Given the description of an element on the screen output the (x, y) to click on. 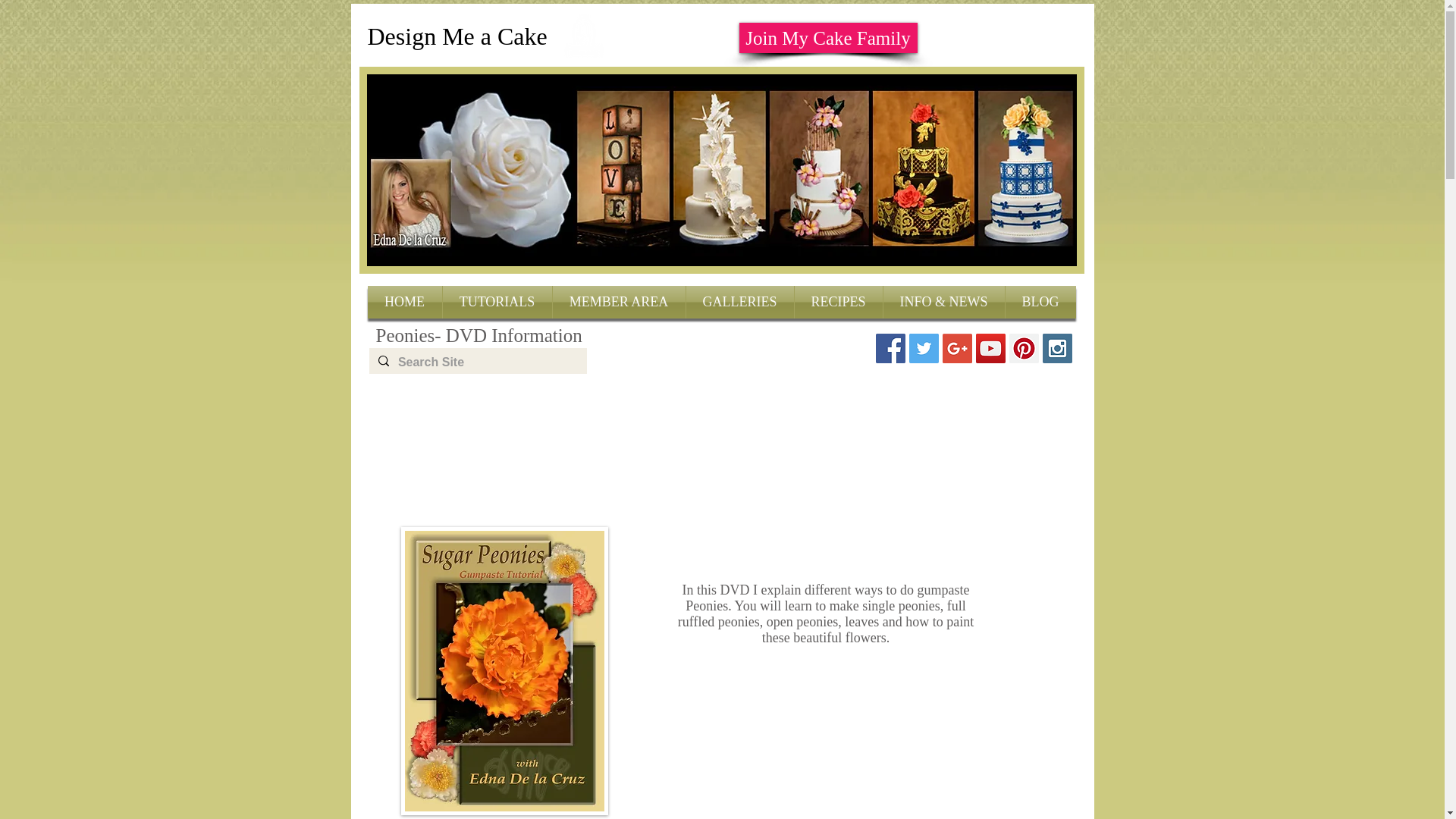
TUTORIALS (496, 301)
MEMBER AREA (617, 301)
HOME (403, 301)
Join My Cake Family (827, 37)
BLOG (1040, 301)
RECIPES (838, 301)
GALLERIES (739, 301)
